Given the description of an element on the screen output the (x, y) to click on. 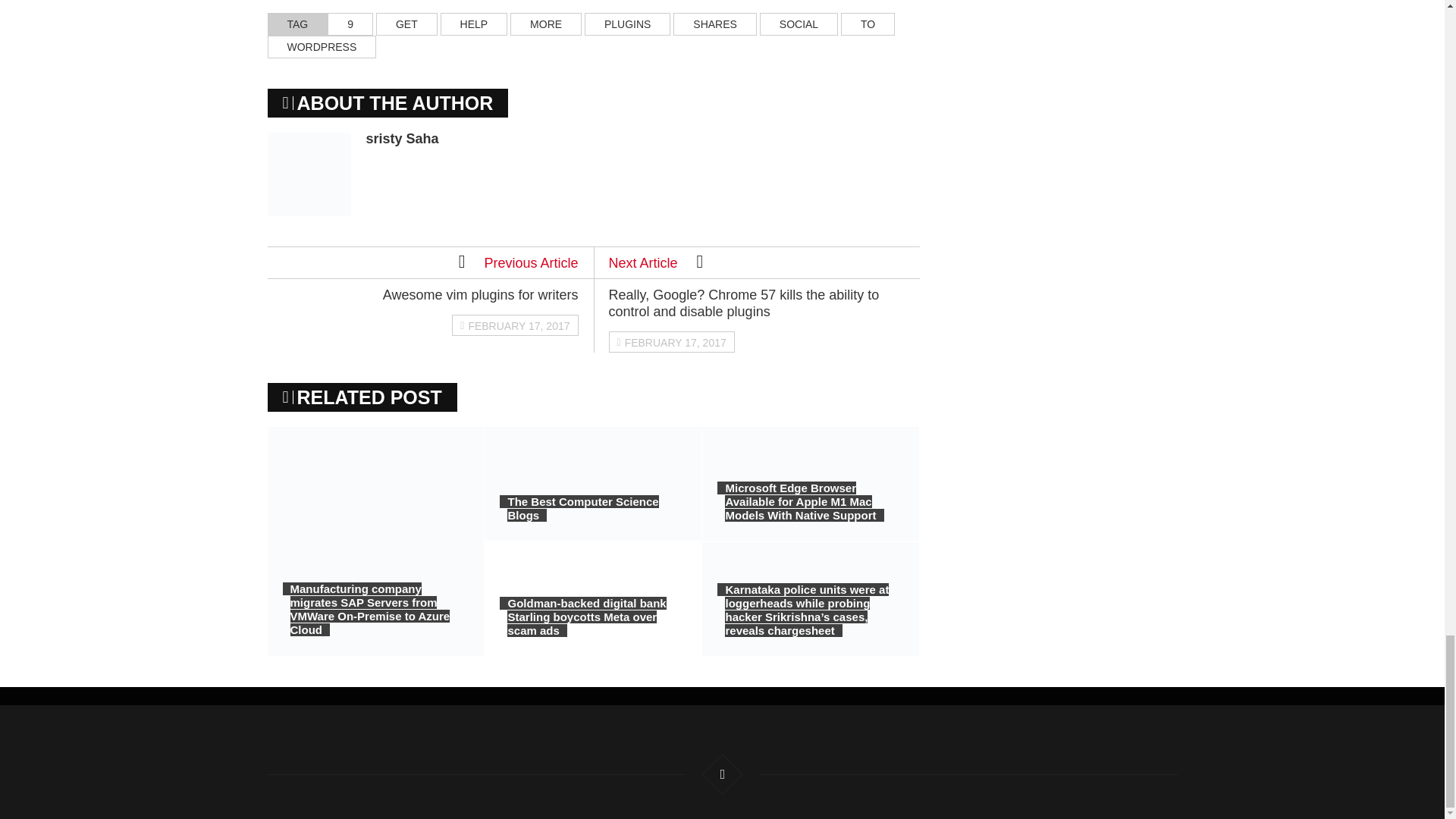
Posts by sristy Saha (401, 138)
